Given the description of an element on the screen output the (x, y) to click on. 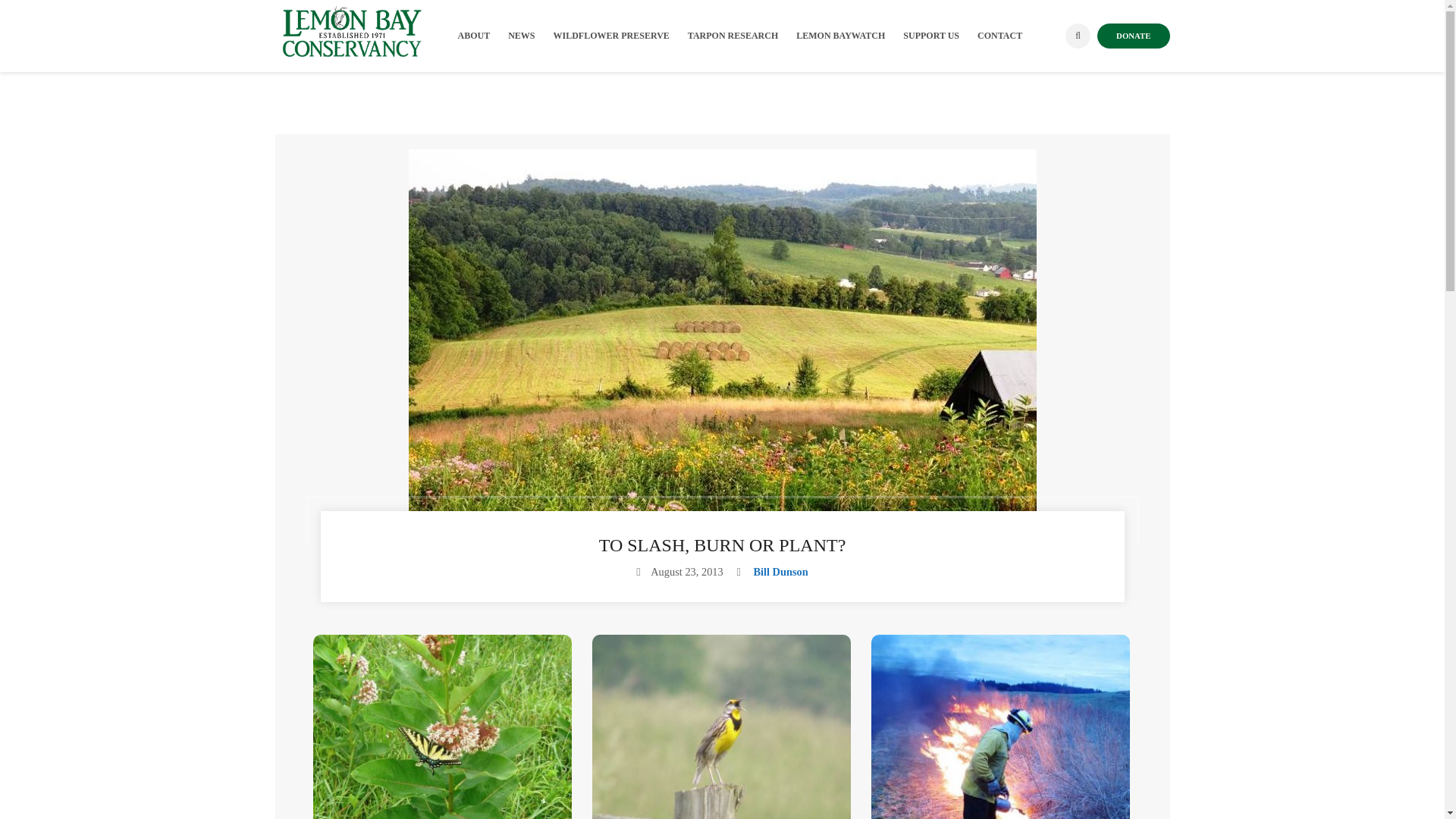
WILDFLOWER PRESERVE (620, 36)
Controlled burn of meadow (1000, 726)
TARPON RESEARCH (741, 36)
LEMON BAYWATCH (849, 36)
Meadowlark (721, 726)
Lemon Bay Conservancy (350, 32)
Tiger swallowtail on milkweed (442, 726)
SUPPORT US (939, 36)
